Given the description of an element on the screen output the (x, y) to click on. 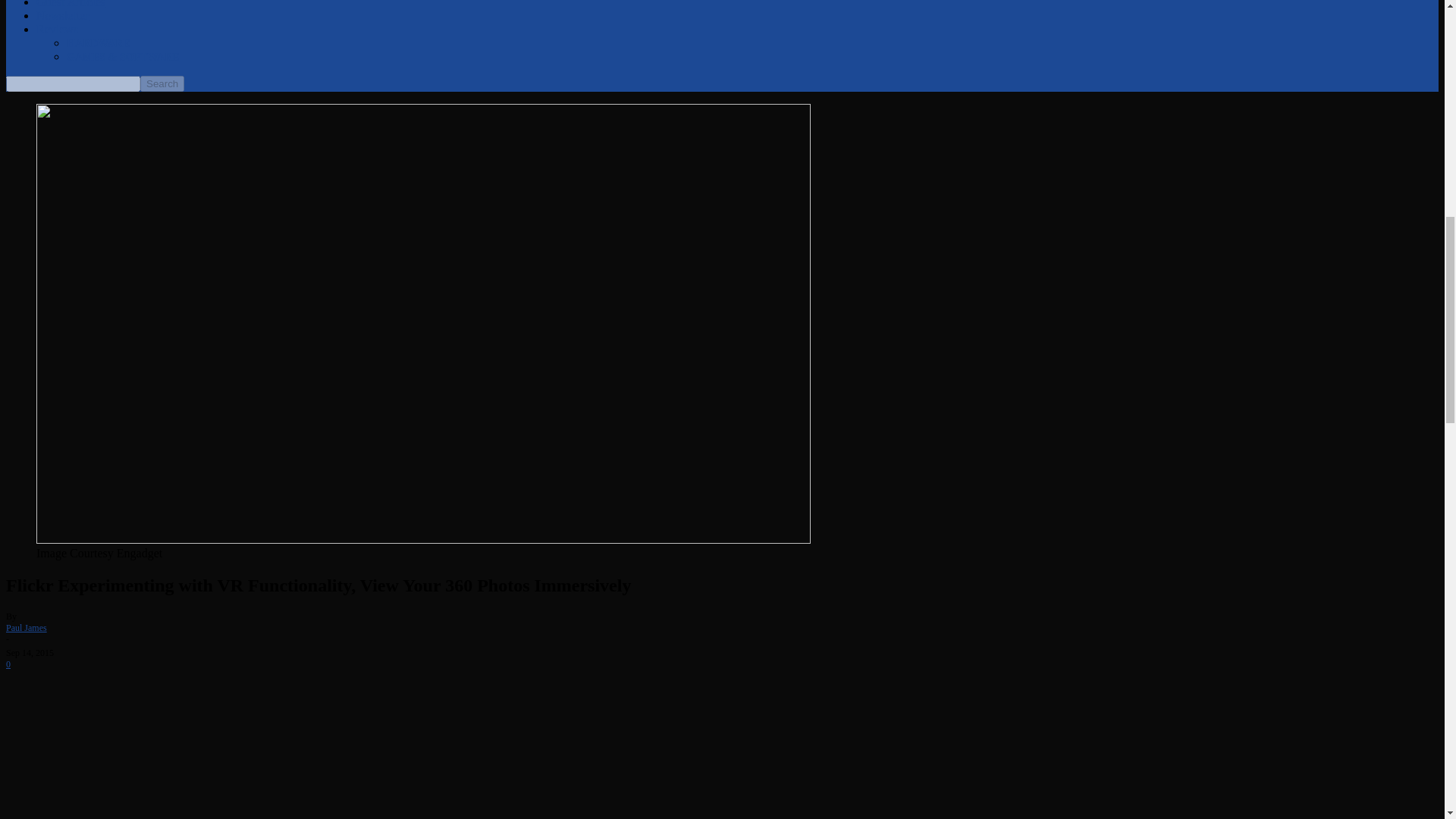
Search (161, 83)
Reviews (57, 29)
HARDWARE (97, 43)
Newsletter (62, 15)
Paul James (25, 627)
Search (161, 83)
Guest Articles (70, 4)
